Given the description of an element on the screen output the (x, y) to click on. 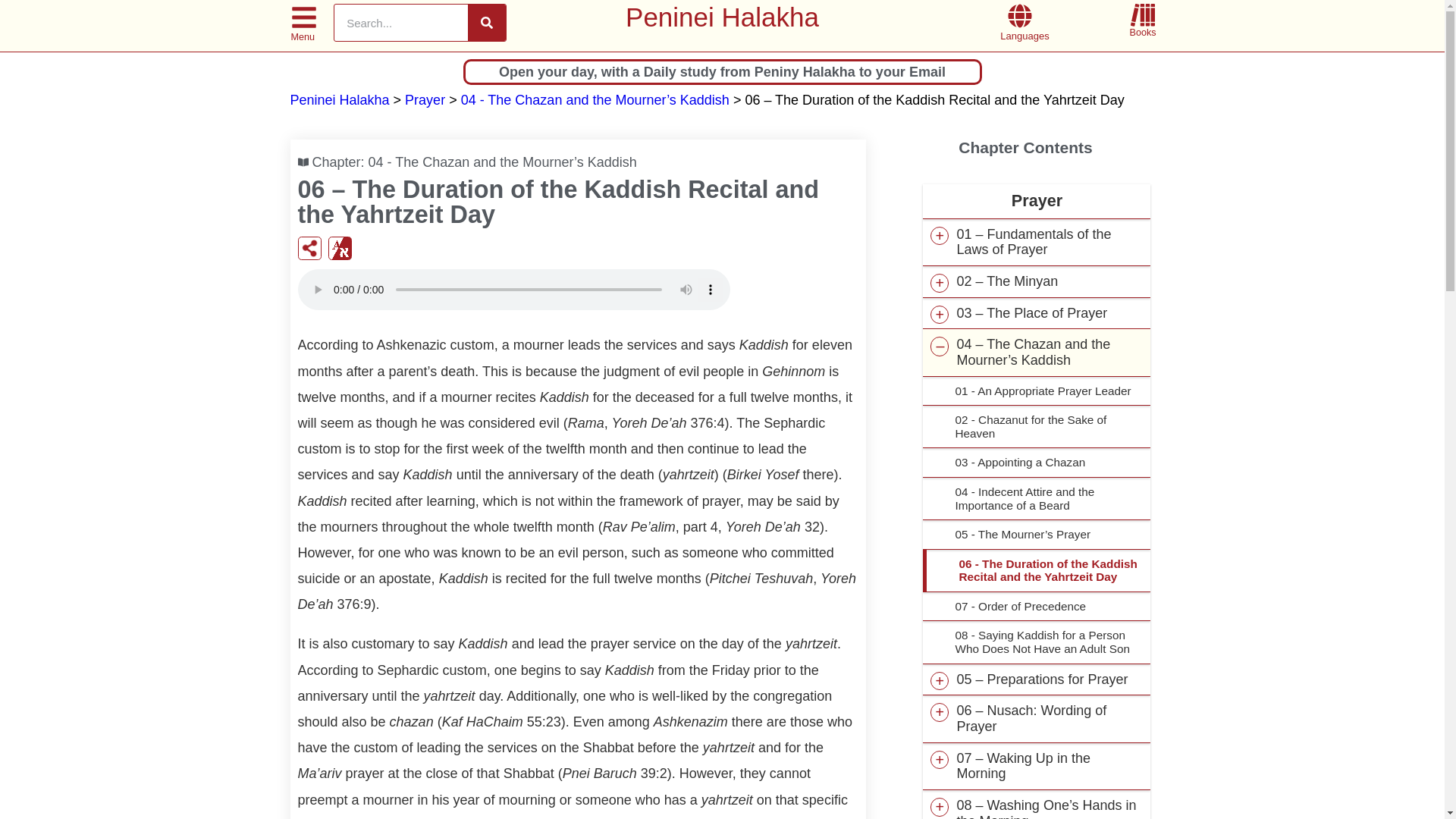
Peninei Halakha (338, 99)
Go to the Prayer category archives. (424, 99)
Peninei Halakha (722, 16)
Languages (1024, 35)
Go to Peninei Halakha. (338, 99)
Prayer (424, 99)
